Given the description of an element on the screen output the (x, y) to click on. 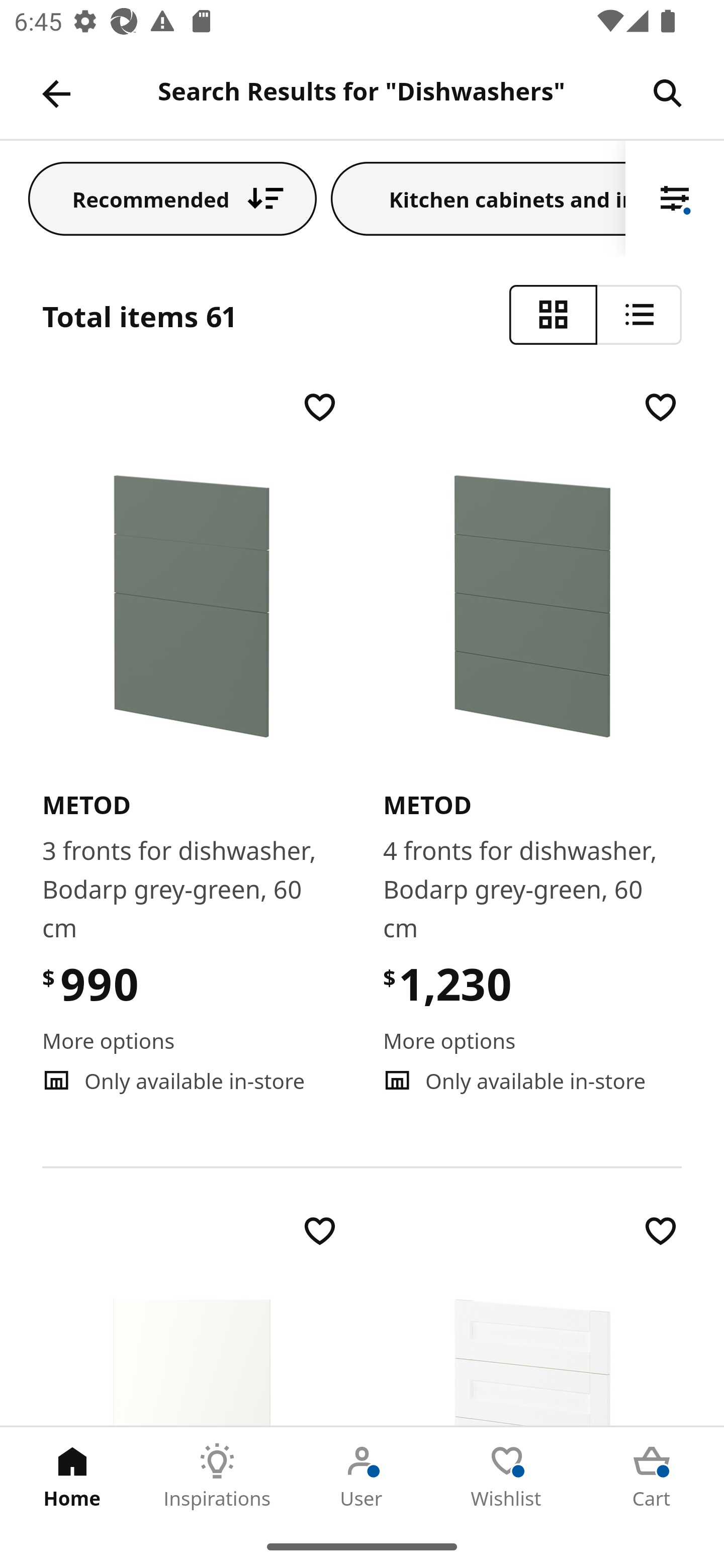
Recommended (172, 198)
Kitchen cabinets and interiors (477, 198)
Home
Tab 1 of 5 (72, 1476)
Inspirations
Tab 2 of 5 (216, 1476)
User
Tab 3 of 5 (361, 1476)
Wishlist
Tab 4 of 5 (506, 1476)
Cart
Tab 5 of 5 (651, 1476)
